Given the description of an element on the screen output the (x, y) to click on. 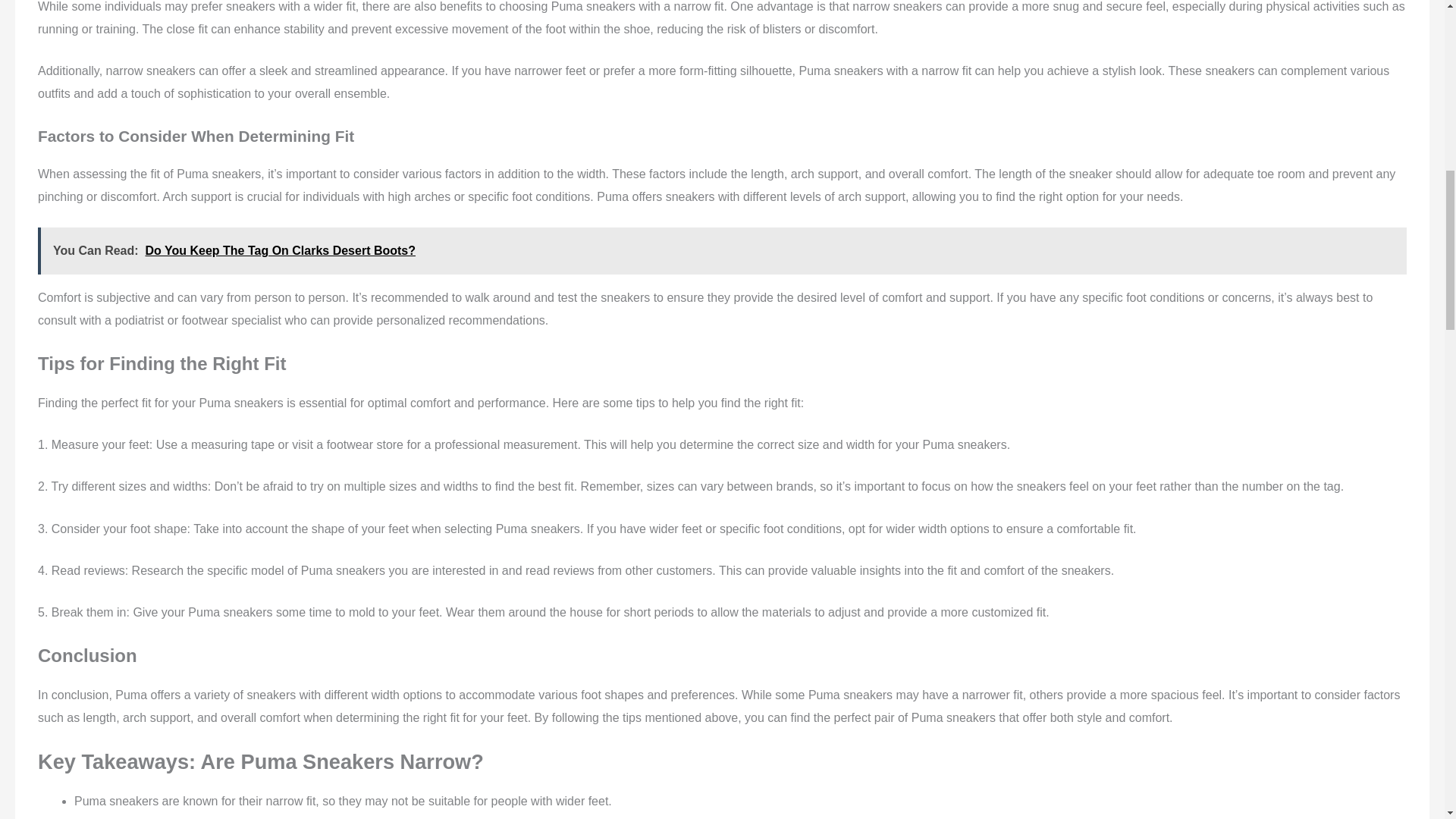
You Can Read:  Do You Keep The Tag On Clarks Desert Boots? (721, 250)
